Given the description of an element on the screen output the (x, y) to click on. 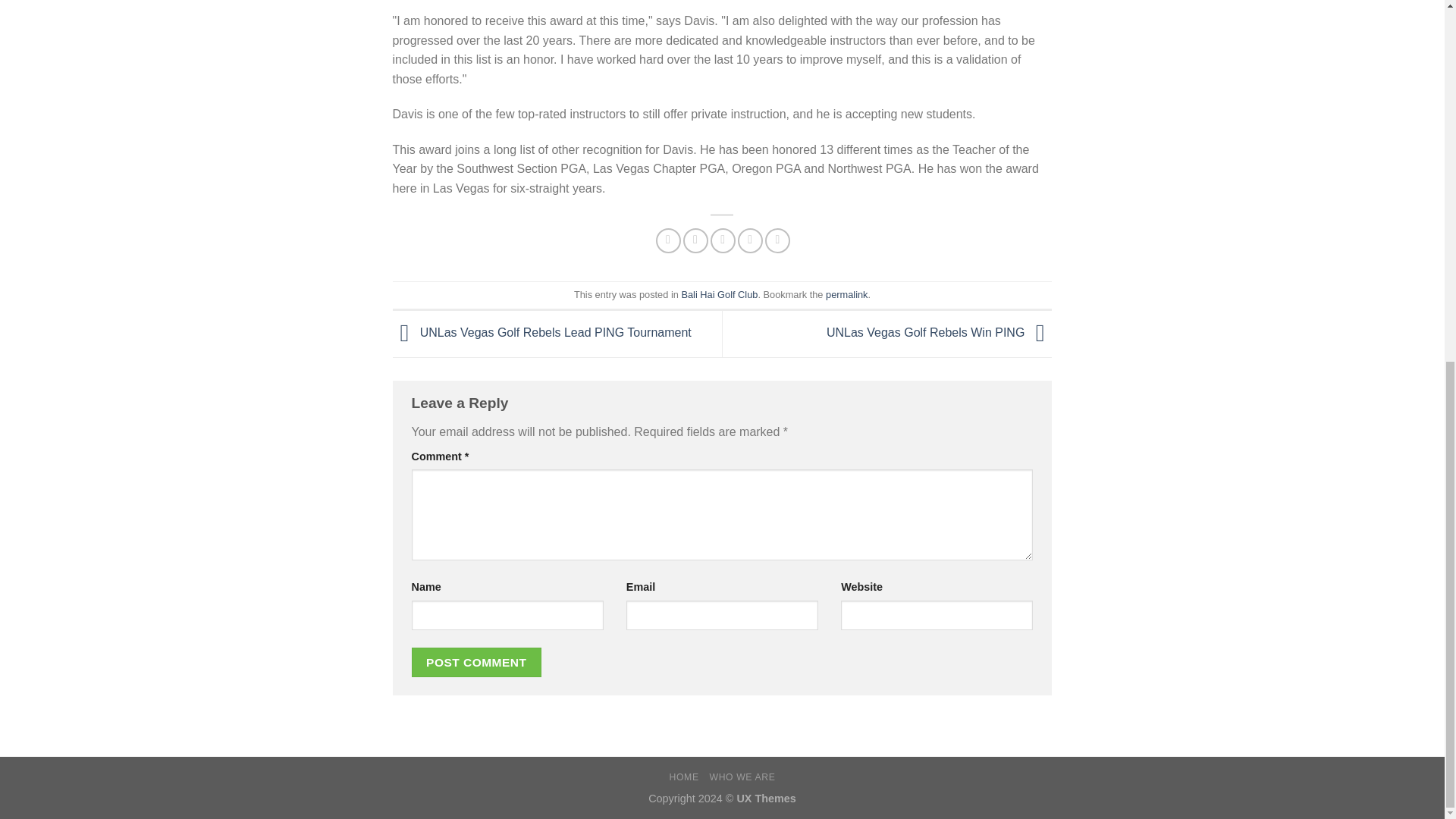
permalink (846, 294)
WHO WE ARE (741, 777)
HOME (683, 777)
UNLas Vegas Golf Rebels Lead PING Tournament (542, 332)
Share on Facebook (668, 240)
UNLas Vegas Golf Rebels Win PING (939, 332)
Post Comment (475, 662)
Email to a Friend (722, 240)
Share on LinkedIn (777, 240)
Post Comment (475, 662)
Pin on Pinterest (750, 240)
Bali Hai Golf Club (719, 294)
Share on Twitter (694, 240)
